Given the description of an element on the screen output the (x, y) to click on. 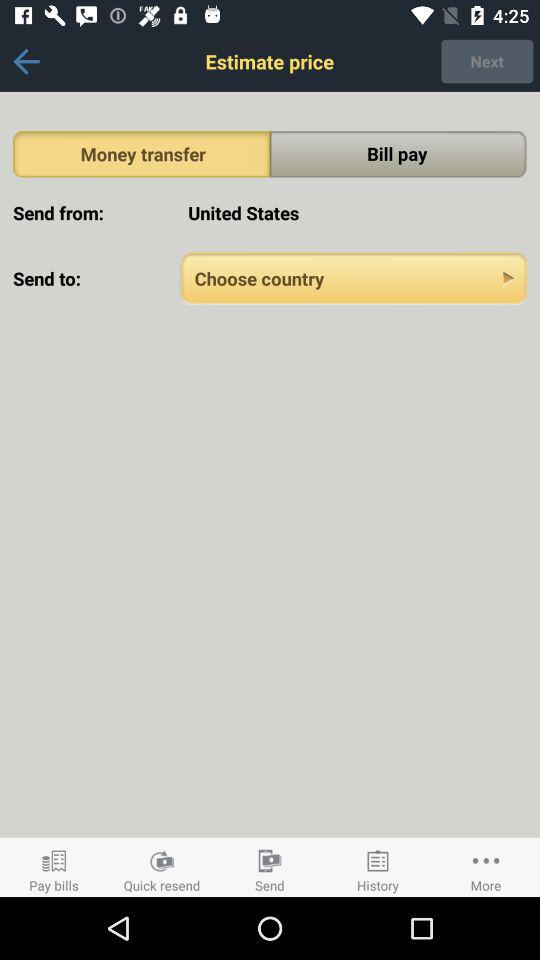
flip to the bill pay (398, 154)
